Given the description of an element on the screen output the (x, y) to click on. 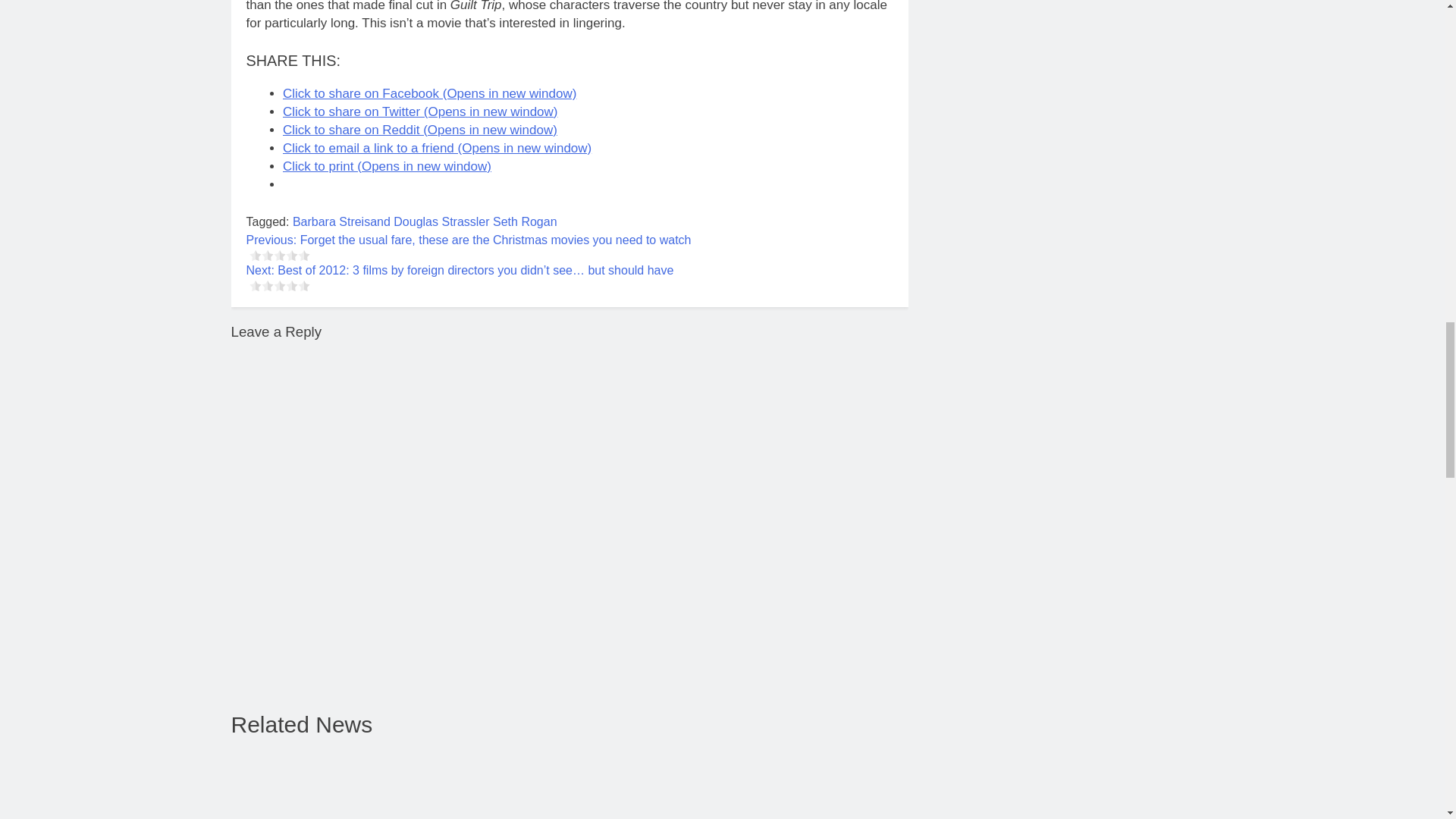
Douglas Strassler (441, 221)
Click to share on Facebook (429, 93)
Seth Rogan (525, 221)
Click to share on Reddit (419, 129)
Click to share on Twitter (419, 111)
Click to email a link to a friend (436, 147)
Click to print (387, 165)
Barbara Streisand (341, 221)
